Given the description of an element on the screen output the (x, y) to click on. 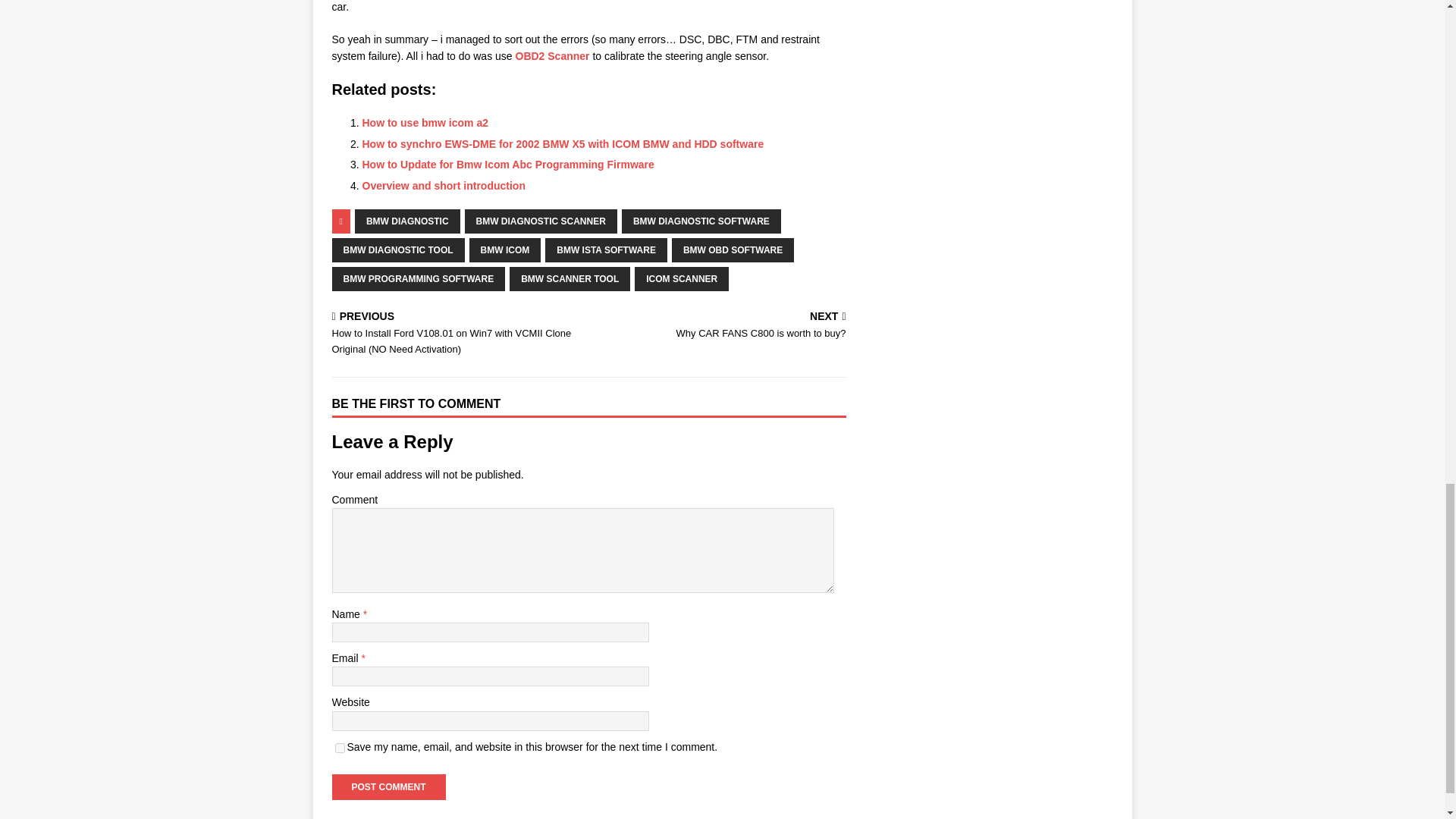
BMW DIAGNOSTIC TOOL (397, 250)
How to Update for Bmw Icom Abc Programming Firmware (507, 164)
BMW PROGRAMMING SOFTWARE (418, 278)
How to use bmw icom a2 (424, 122)
ICOM SCANNER (681, 278)
BMW SCANNER TOOL (569, 278)
BMW OBD SOFTWARE (720, 326)
Post Comment (732, 250)
How to Update for Bmw Icom Abc Programming Firmware (388, 786)
Post Comment (507, 164)
BMW DIAGNOSTIC SOFTWARE (388, 786)
OBD2 Scanner (700, 221)
